Given the description of an element on the screen output the (x, y) to click on. 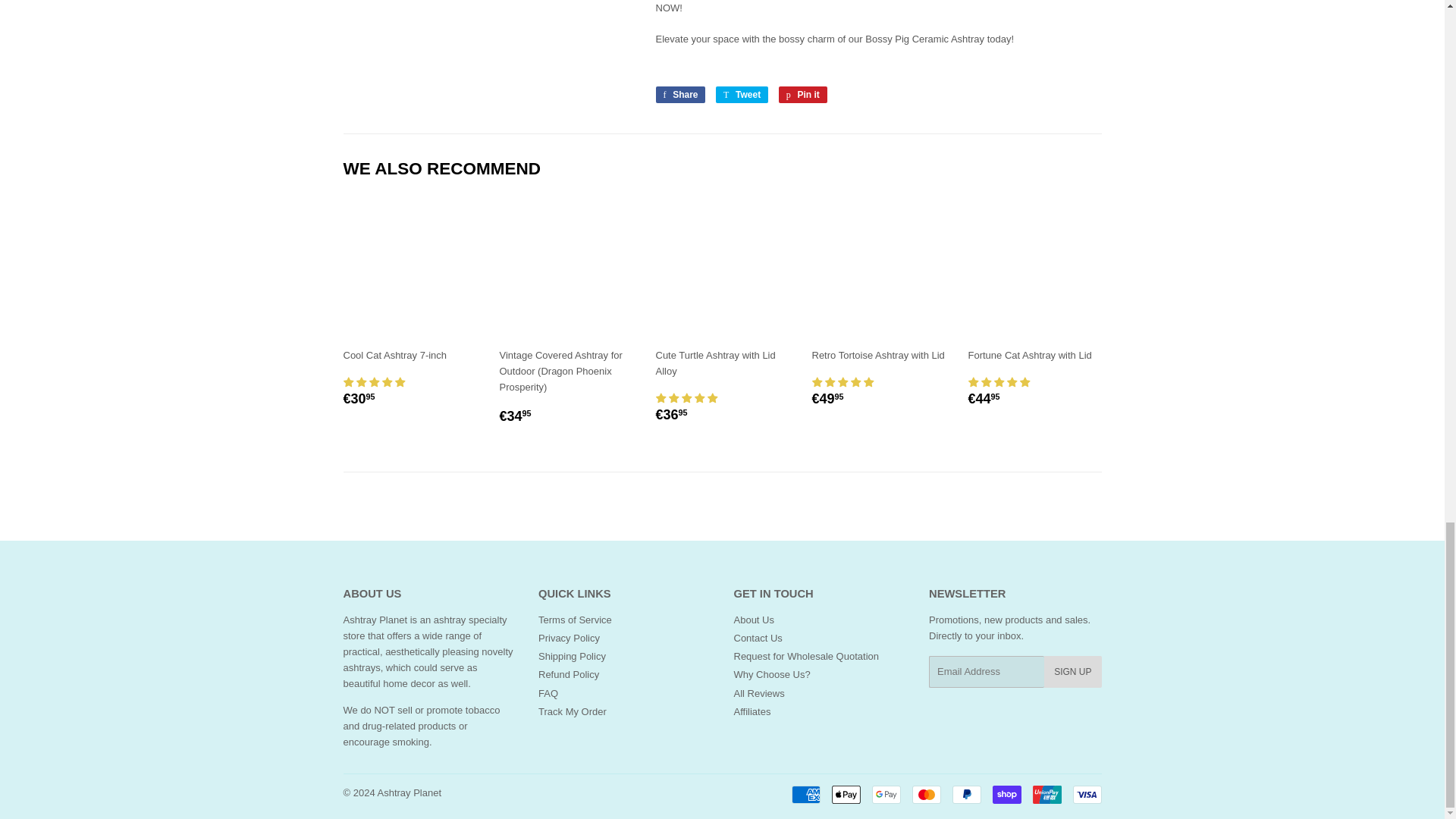
Share on Facebook (679, 94)
Visa (1085, 794)
Apple Pay (845, 794)
PayPal (966, 794)
Shop Pay (1005, 794)
American Express (806, 794)
Union Pay (1046, 794)
Mastercard (925, 794)
Pin on Pinterest (802, 94)
Google Pay (886, 794)
Tweet on Twitter (742, 94)
